Given the description of an element on the screen output the (x, y) to click on. 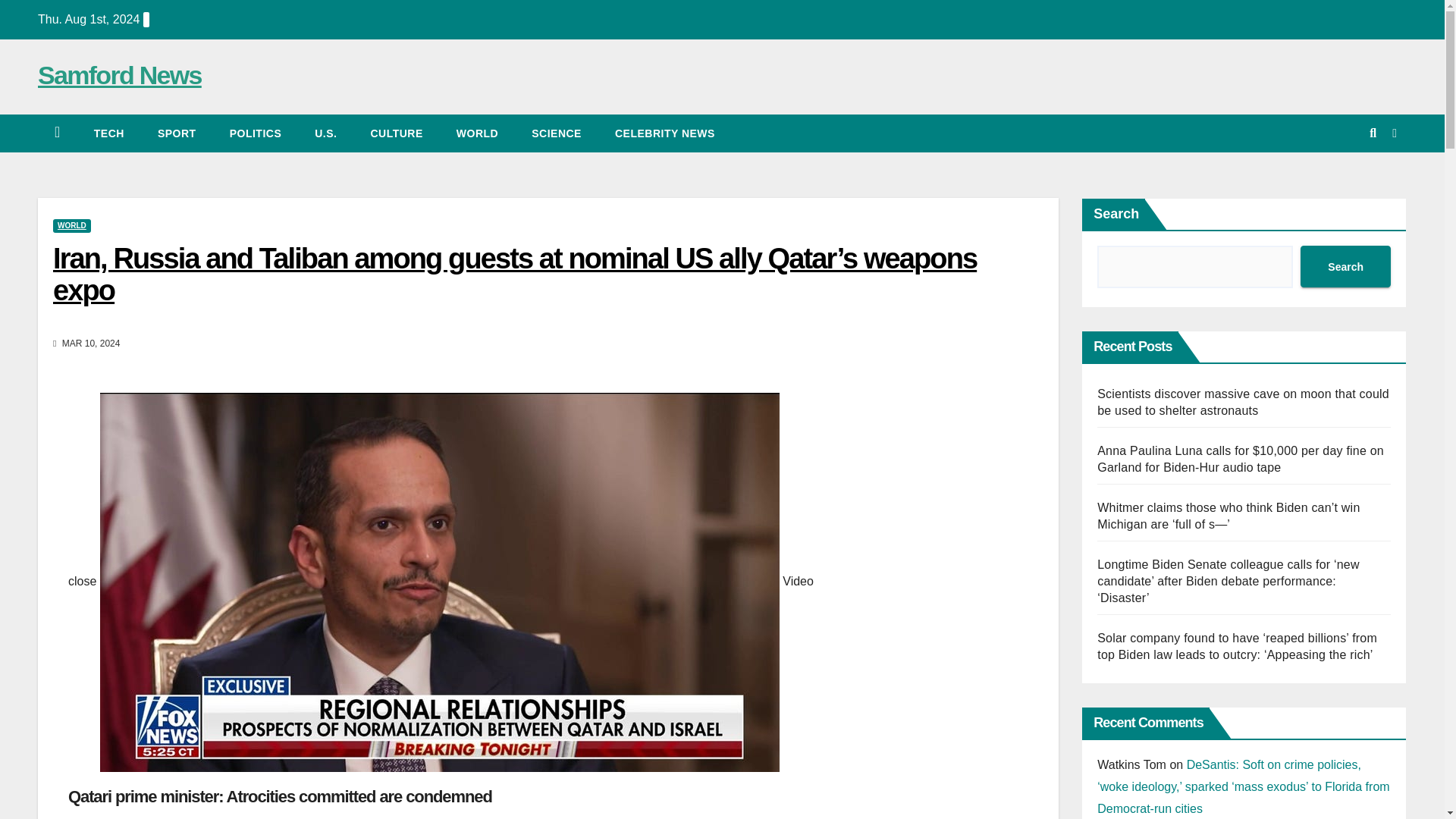
CELEBRITY NEWS (665, 133)
SPORT (176, 133)
World (477, 133)
TECH (109, 133)
Samford News (119, 74)
CULTURE (396, 133)
U.S. (325, 133)
Sport (176, 133)
SCIENCE (556, 133)
Tech (109, 133)
Politics (255, 133)
Search (1345, 266)
Celebrity News (665, 133)
Culture (396, 133)
